Given the description of an element on the screen output the (x, y) to click on. 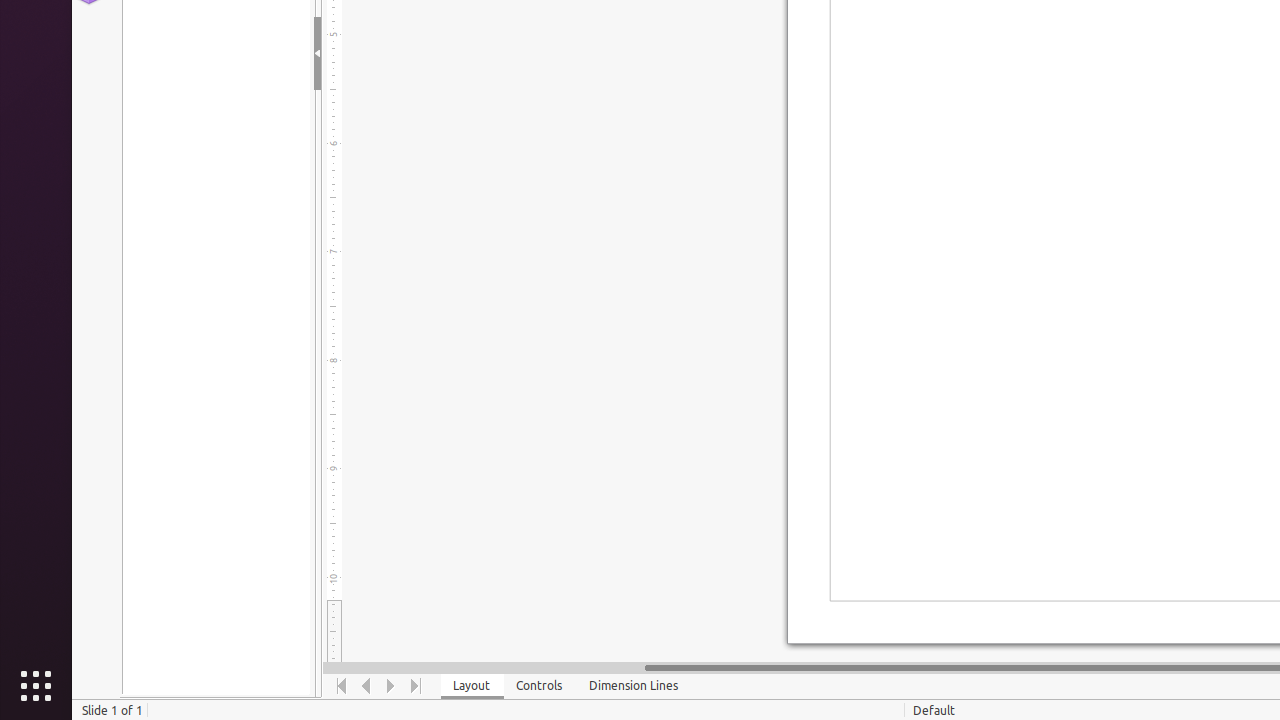
Move Left Element type: push-button (366, 686)
Move To Home Element type: push-button (341, 686)
Show Applications Element type: toggle-button (36, 686)
Move Right Element type: push-button (391, 686)
Layout Element type: page-tab (472, 686)
